Given the description of an element on the screen output the (x, y) to click on. 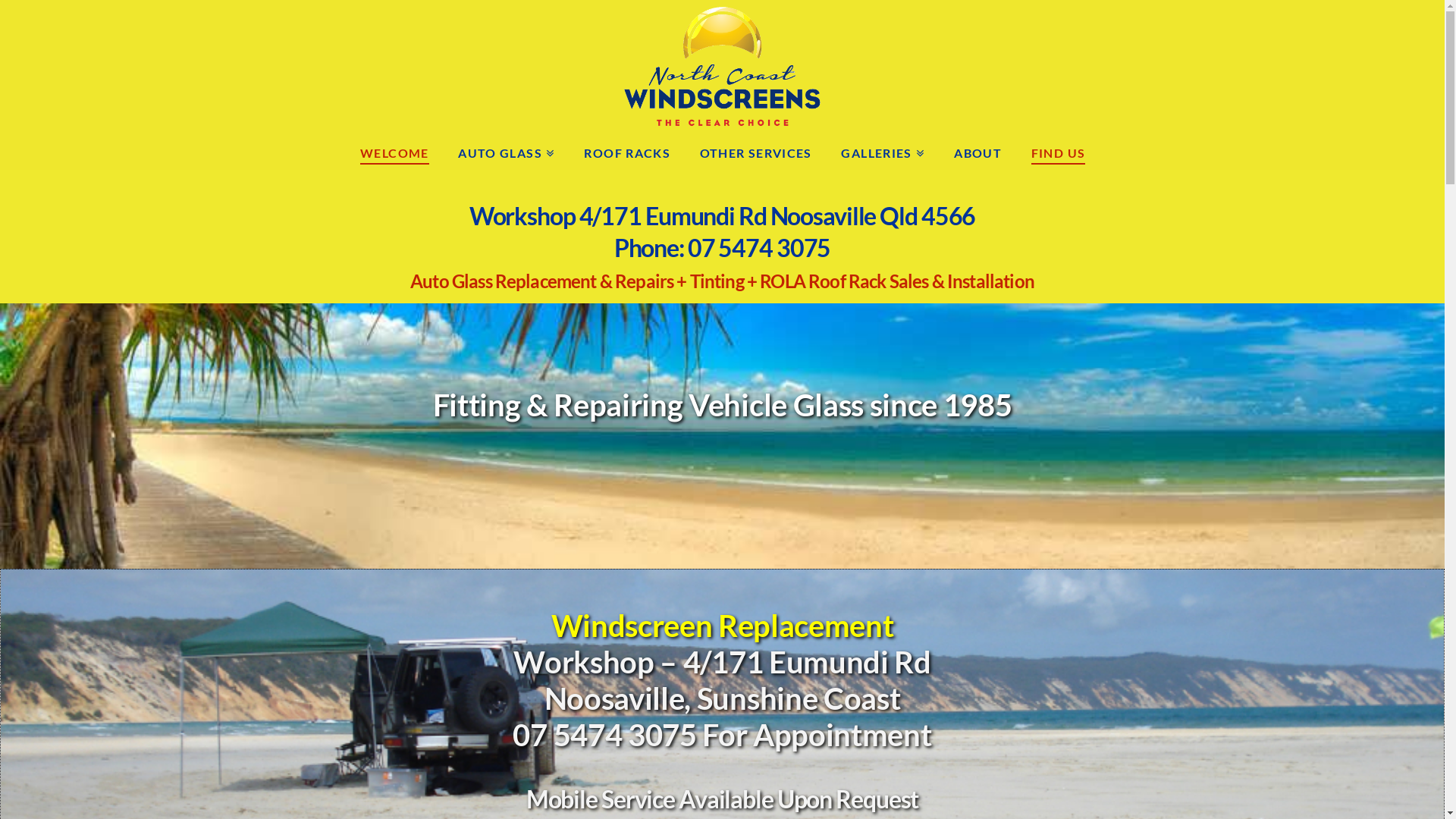
ROOF RACKS Element type: text (626, 150)
FIND US Element type: text (1057, 150)
ABOUT Element type: text (976, 150)
WELCOME Element type: text (393, 150)
The Clear Choice Element type: hover (722, 65)
AUTO GLASS Element type: text (505, 150)
GALLERIES Element type: text (881, 150)
OTHER SERVICES Element type: text (755, 150)
Phone: 07 5474 3075 Element type: text (722, 247)
